Given the description of an element on the screen output the (x, y) to click on. 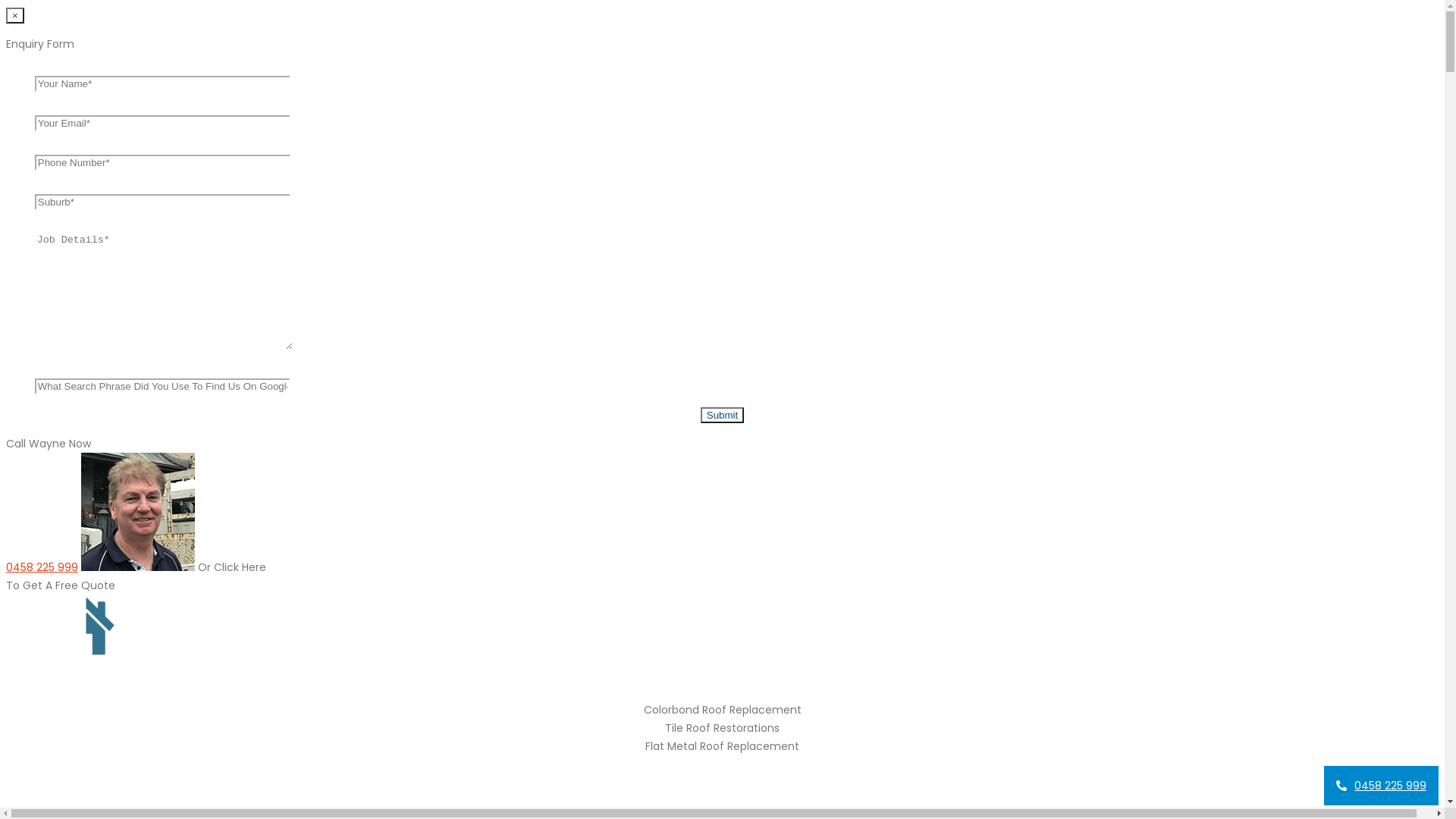
0458 225 999 Element type: text (42, 566)
Submit Element type: text (721, 415)
0458 225 999 Element type: text (1381, 785)
